Given the description of an element on the screen output the (x, y) to click on. 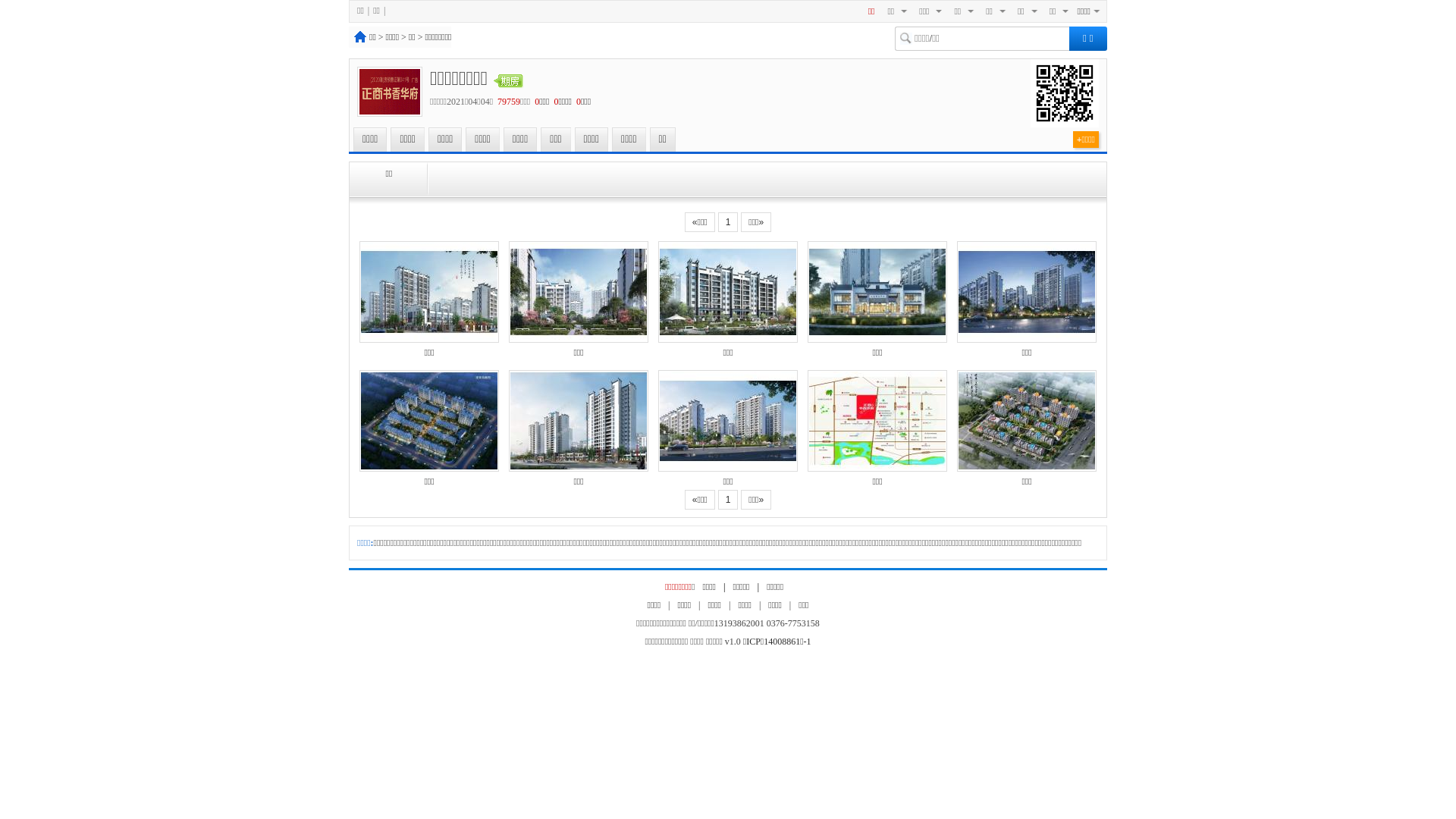
1 Element type: text (728, 222)
1 Element type: text (728, 499)
